Given the description of an element on the screen output the (x, y) to click on. 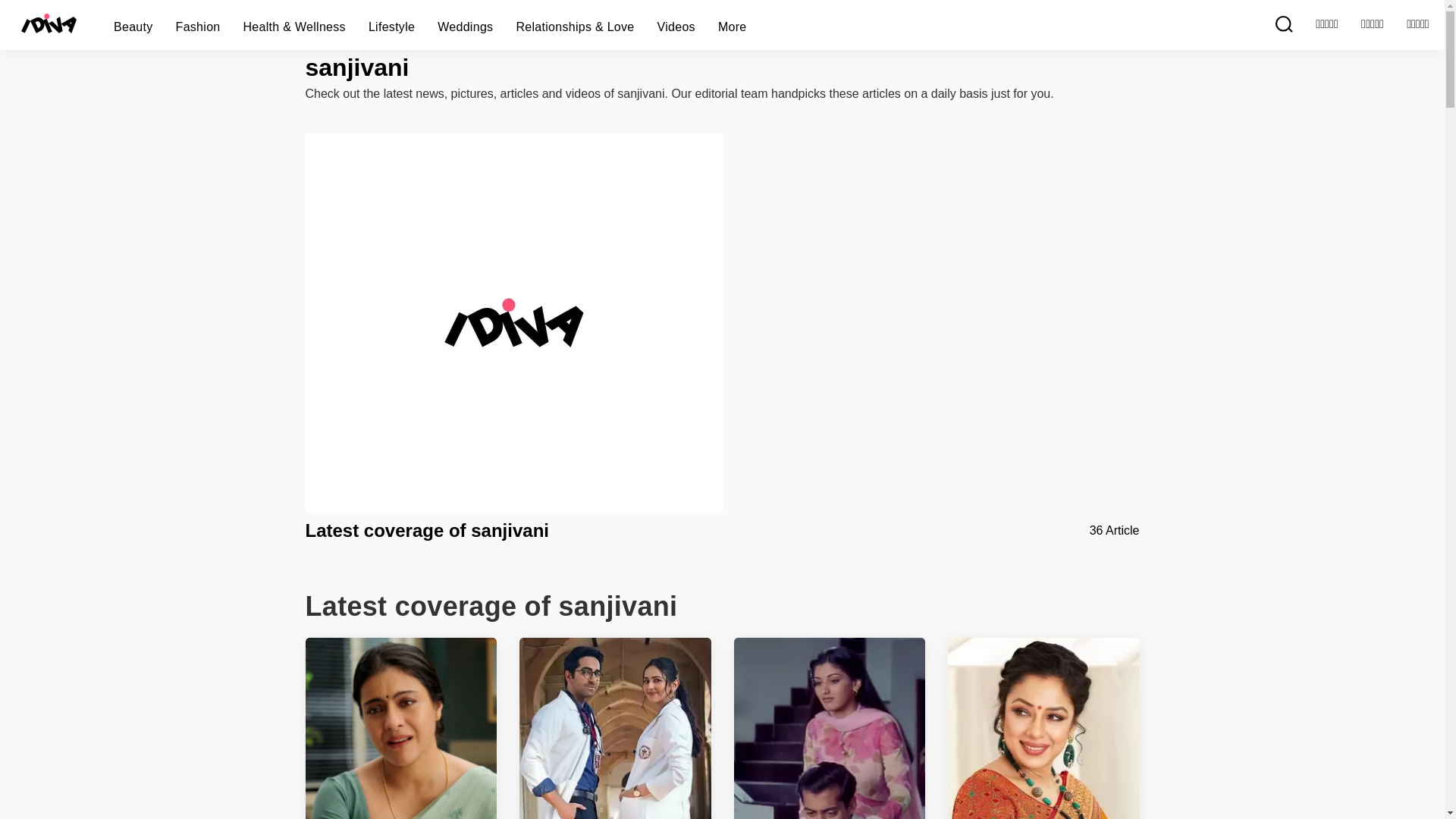
idiva (400, 728)
idiva (829, 728)
idiva (1043, 728)
idiva (615, 728)
